Given the description of an element on the screen output the (x, y) to click on. 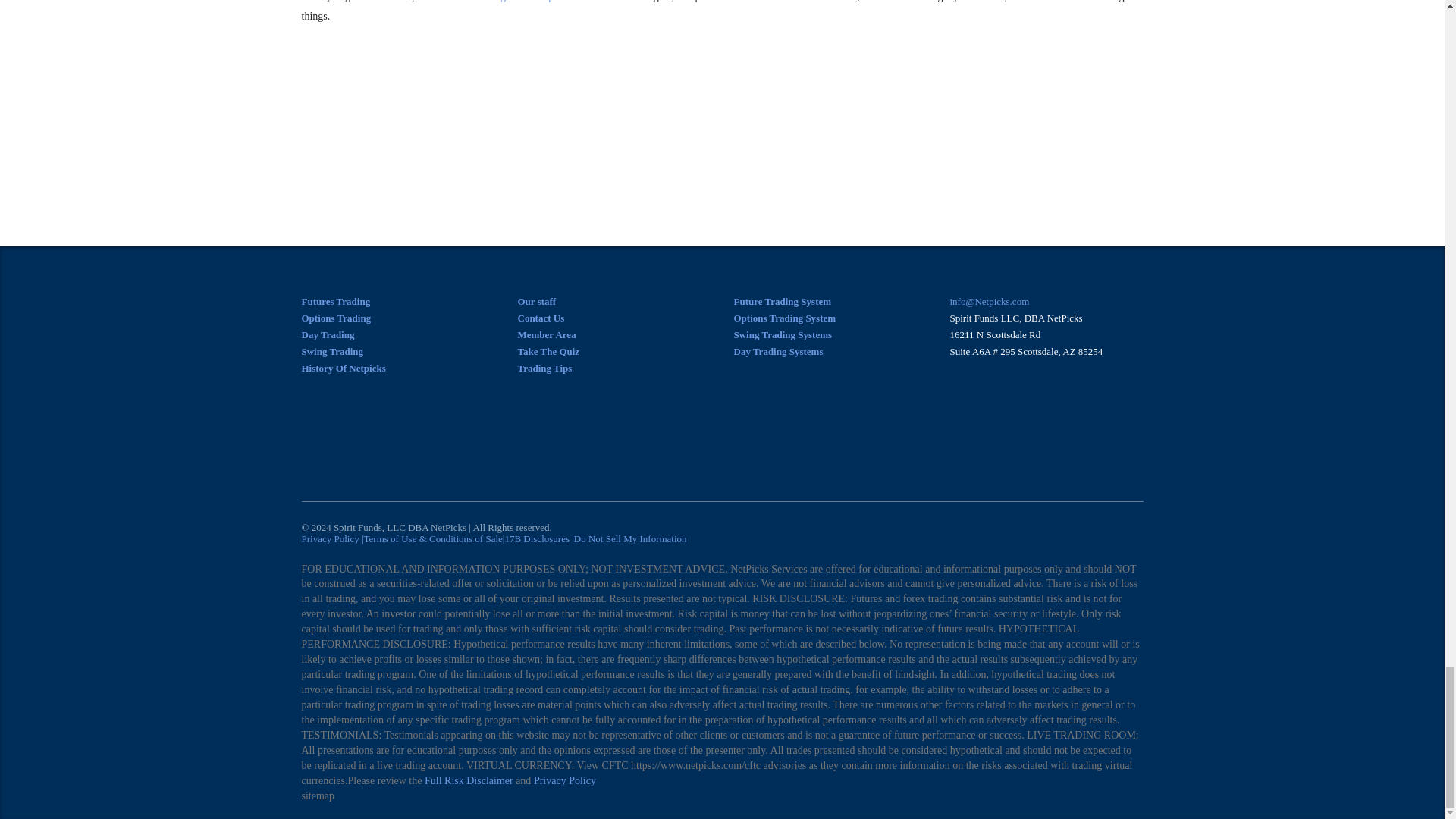
Trading Tips (544, 367)
Futures Trading (336, 301)
Options Trading (336, 317)
Swing Trading Systems (778, 351)
Member Area (545, 334)
Take The Quiz (547, 351)
Options Trading System (784, 317)
Future Trading System (782, 301)
Contact Us (540, 317)
Our staff (536, 301)
